Given the description of an element on the screen output the (x, y) to click on. 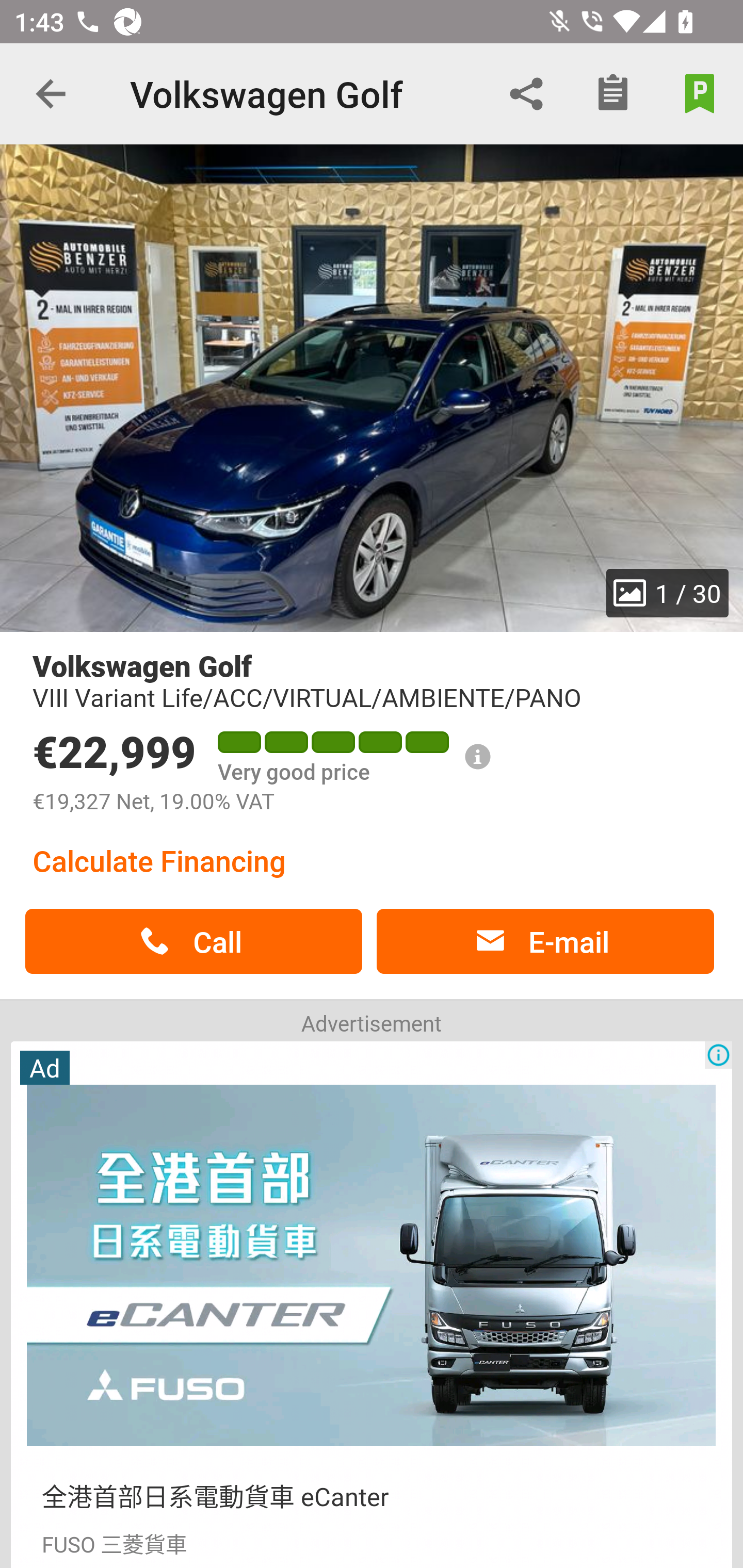
Navigate up (50, 93)
Share via (525, 93)
Checklist (612, 93)
Park (699, 93)
Calculate Financing (159, 859)
Call (193, 941)
E-mail (545, 941)
Ad 全港首部日系電動貨車 eCanter FUSO 三菱貨車 Ad Choices Icon (371, 1303)
Ad Choices Icon (718, 1055)
全港首部日系電動貨車 eCanter (215, 1495)
FUSO 三菱貨車 (114, 1542)
